Given the description of an element on the screen output the (x, y) to click on. 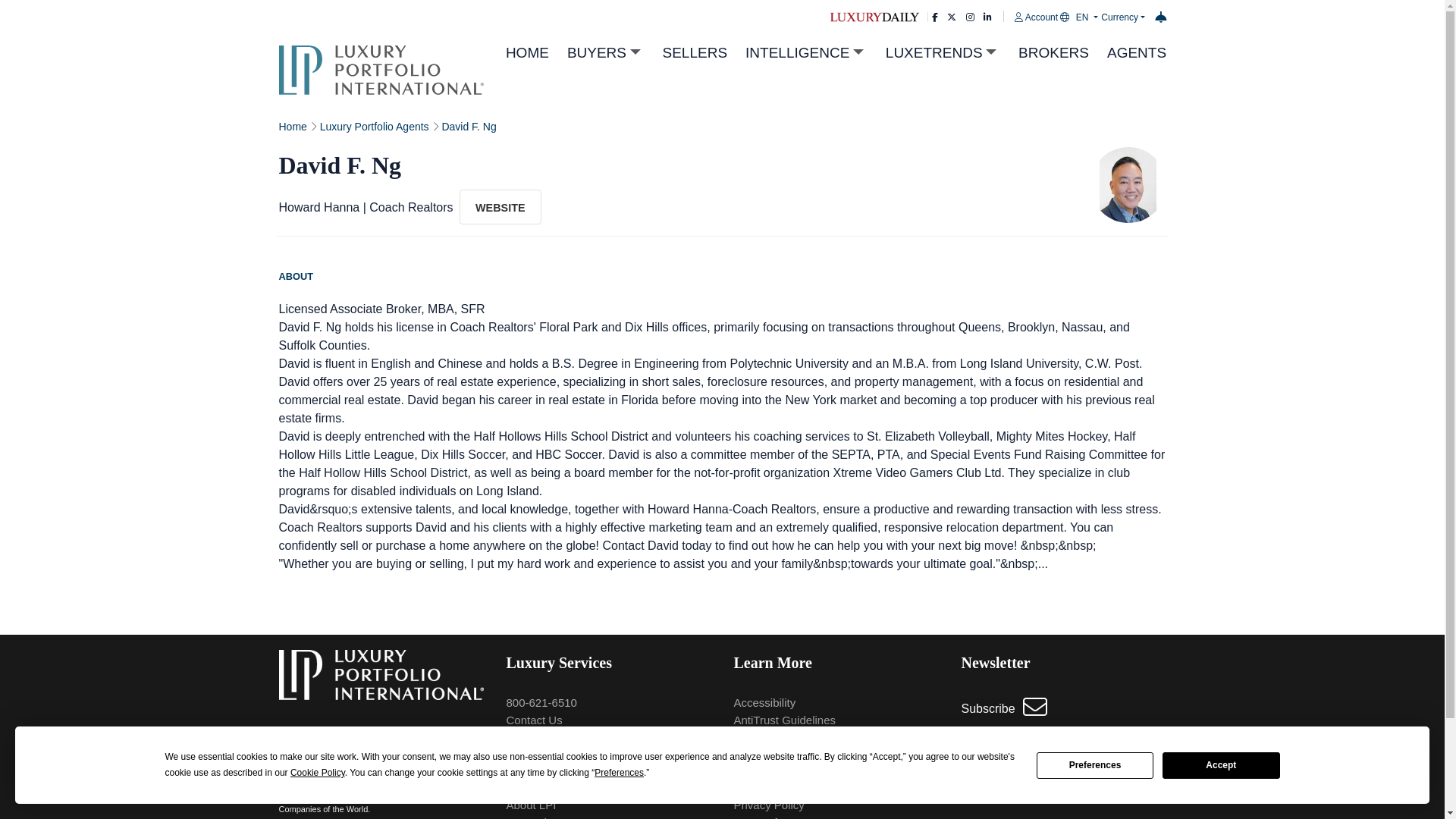
Account (1036, 17)
Preferences (1094, 765)
Accept (1220, 765)
